Given the description of an element on the screen output the (x, y) to click on. 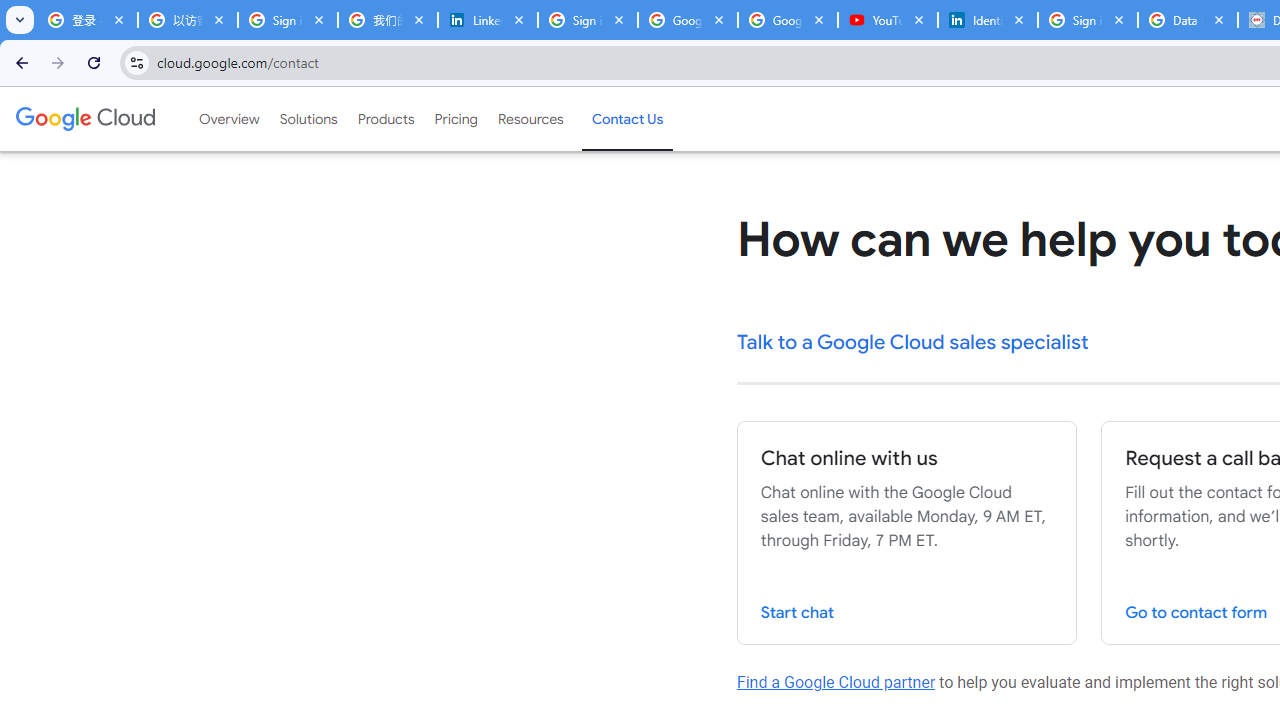
Sign in - Google Accounts (287, 20)
Find a Google Cloud partner (835, 682)
Sign in - Google Accounts (1087, 20)
